Given the description of an element on the screen output the (x, y) to click on. 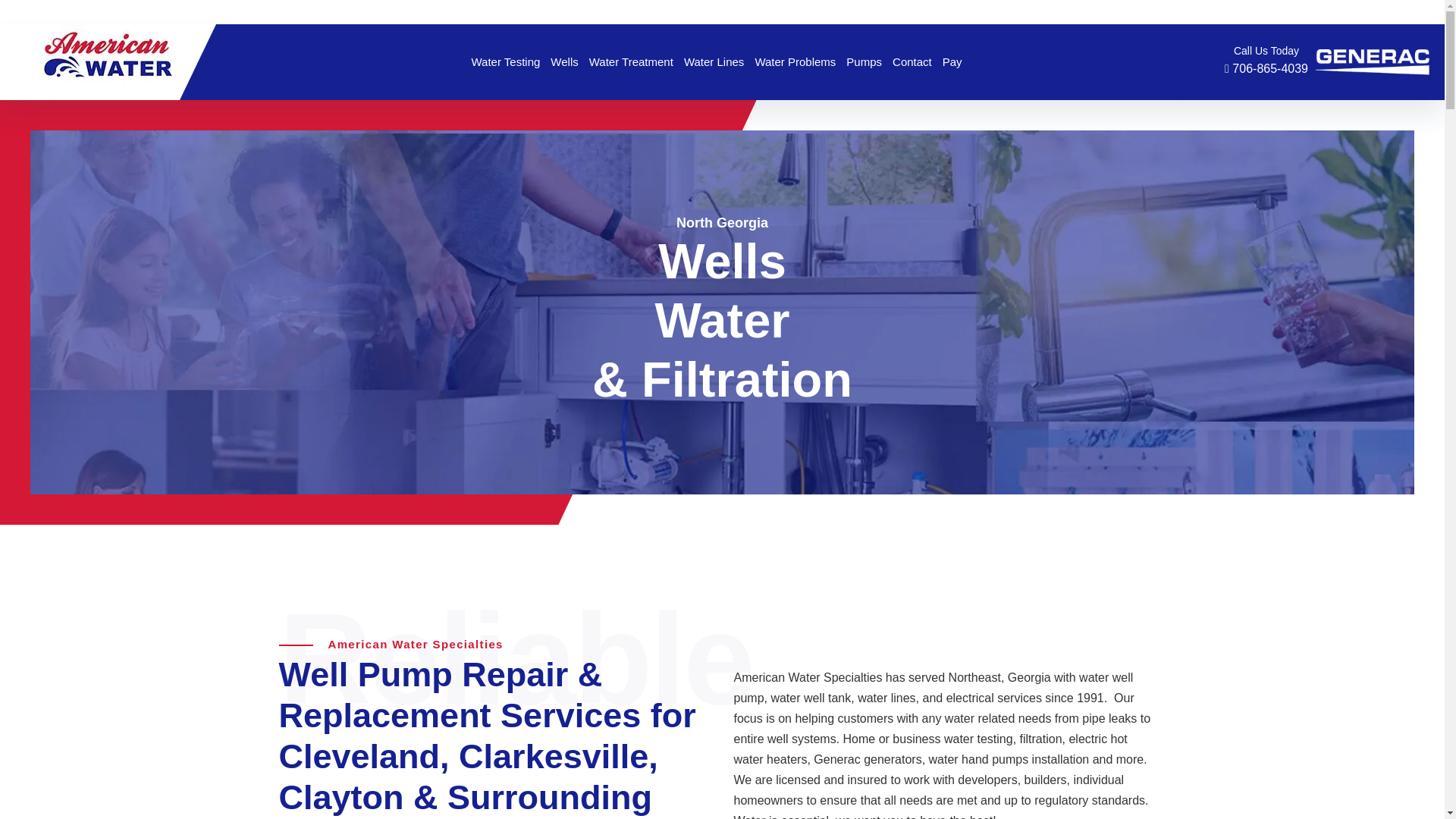
Wells (564, 61)
Pay (952, 61)
Water Problems (794, 61)
Contact (911, 61)
706-865-4039 (1265, 68)
Water Lines (714, 61)
Water Treatment (630, 61)
Pumps (863, 61)
Water Testing (505, 61)
